Given the description of an element on the screen output the (x, y) to click on. 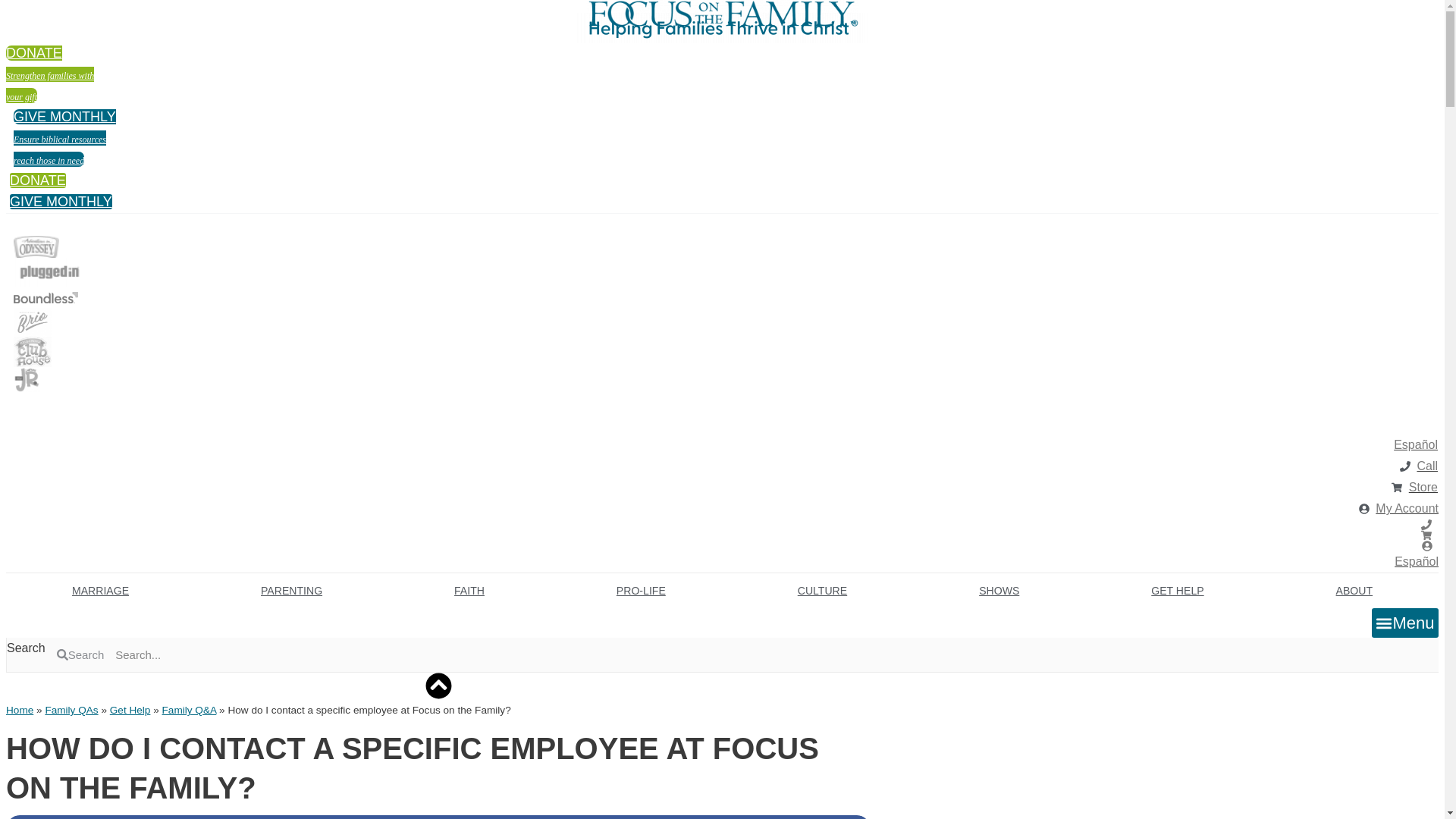
DONATE (37, 180)
FAITH (469, 590)
Plugged In (49, 271)
Brio (31, 321)
Focus on the Family Clubhouse Jr. (26, 379)
Boundless (45, 297)
MARRIAGE (100, 590)
Focus on the Family Clubhouse (31, 351)
Adventures in Odyssey (36, 246)
PRO-LIFE (641, 590)
